Given the description of an element on the screen output the (x, y) to click on. 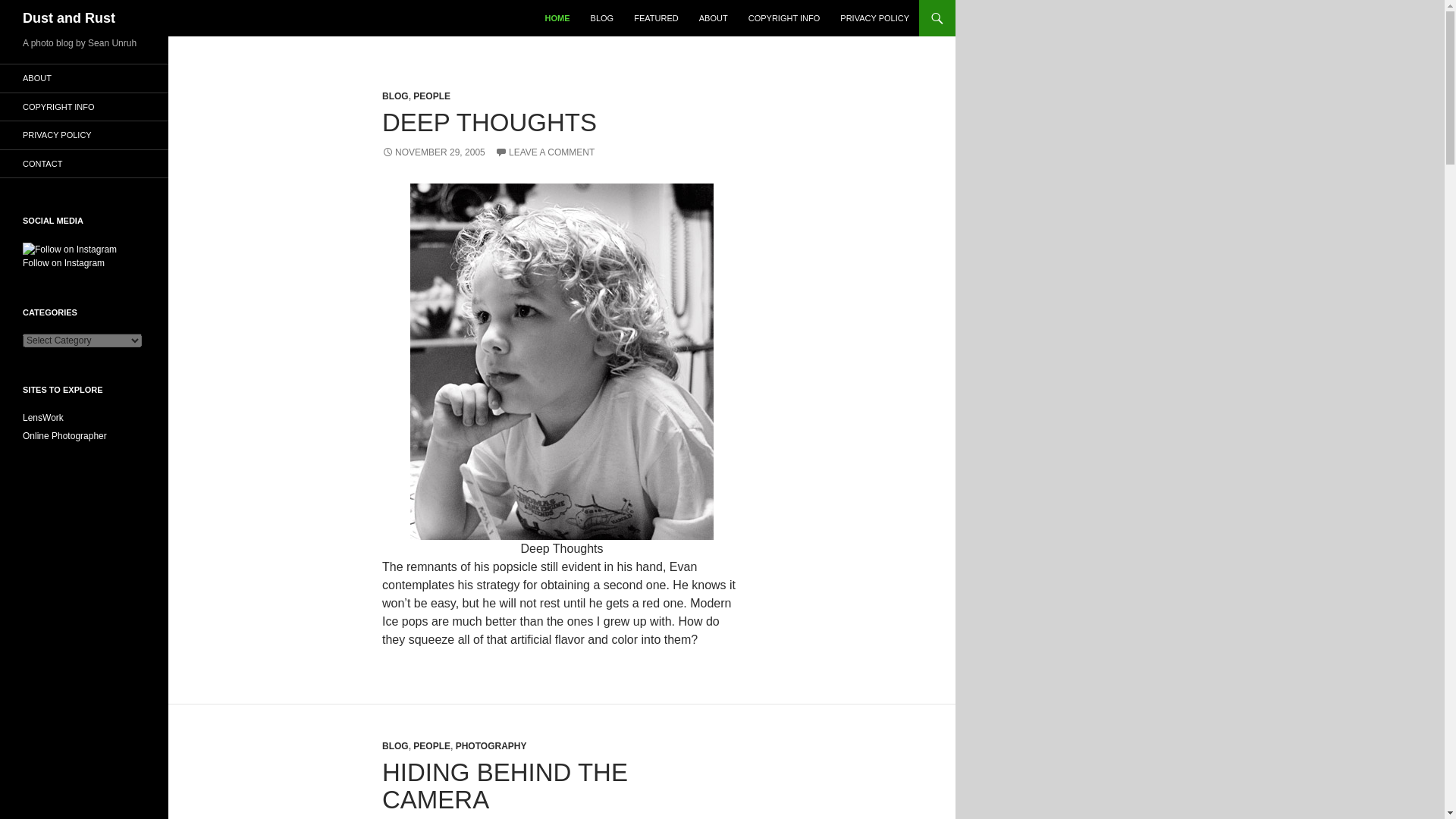
PHOTOGRAPHY (491, 746)
BLOG (601, 18)
LEAVE A COMMENT (544, 152)
HOME (557, 18)
Dust and Rust (69, 18)
FEATURED (655, 18)
BLOG (395, 746)
DEEP THOUGHTS (488, 122)
PEOPLE (431, 746)
BLOG (395, 95)
